Given the description of an element on the screen output the (x, y) to click on. 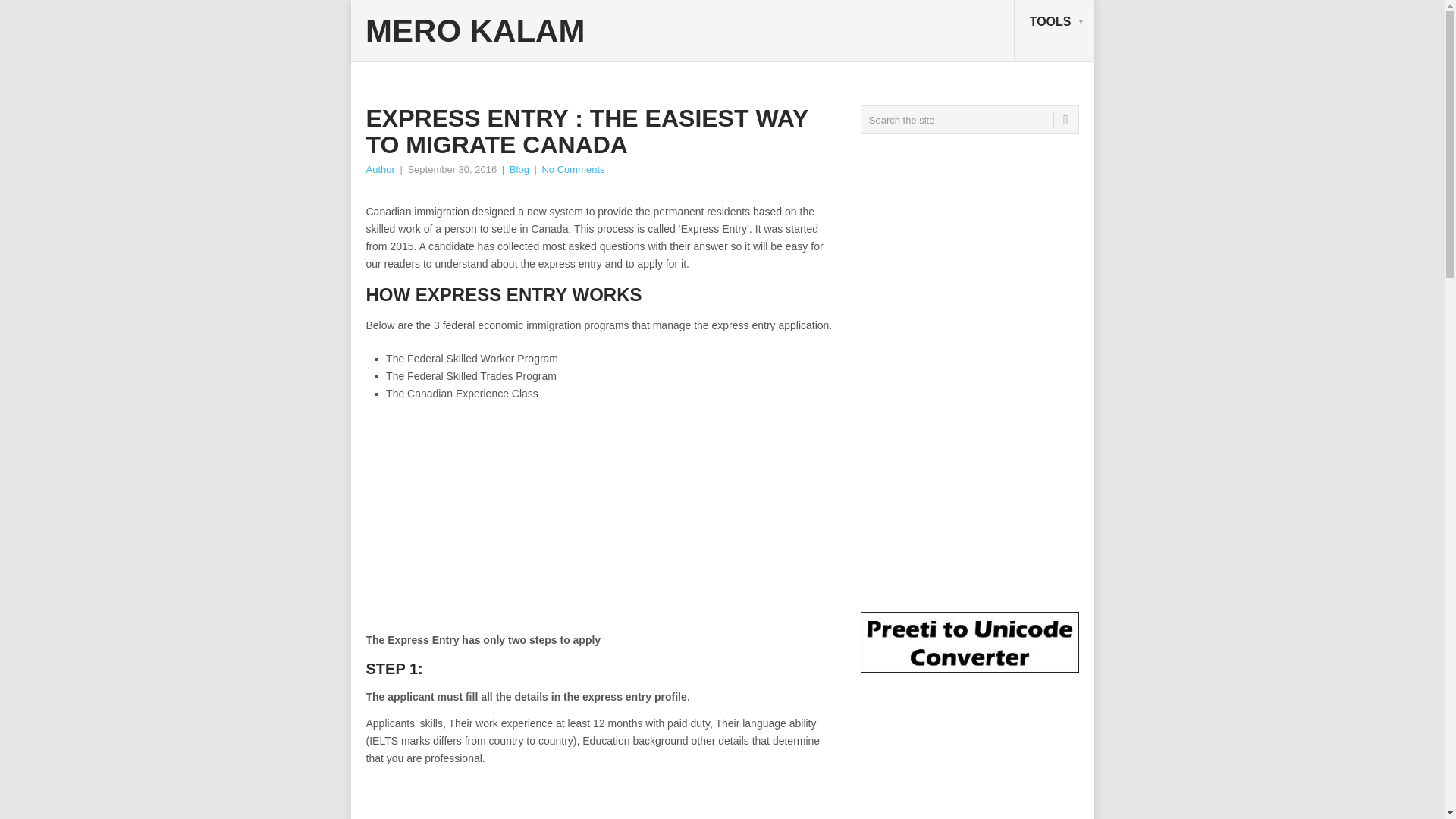
Advertisement (492, 797)
Posts by Author (379, 169)
TOOLS (1053, 31)
MERO KALAM (475, 30)
No Comments (572, 169)
Search the site (969, 119)
Advertisement (601, 525)
Author (379, 169)
Blog (519, 169)
